Given the description of an element on the screen output the (x, y) to click on. 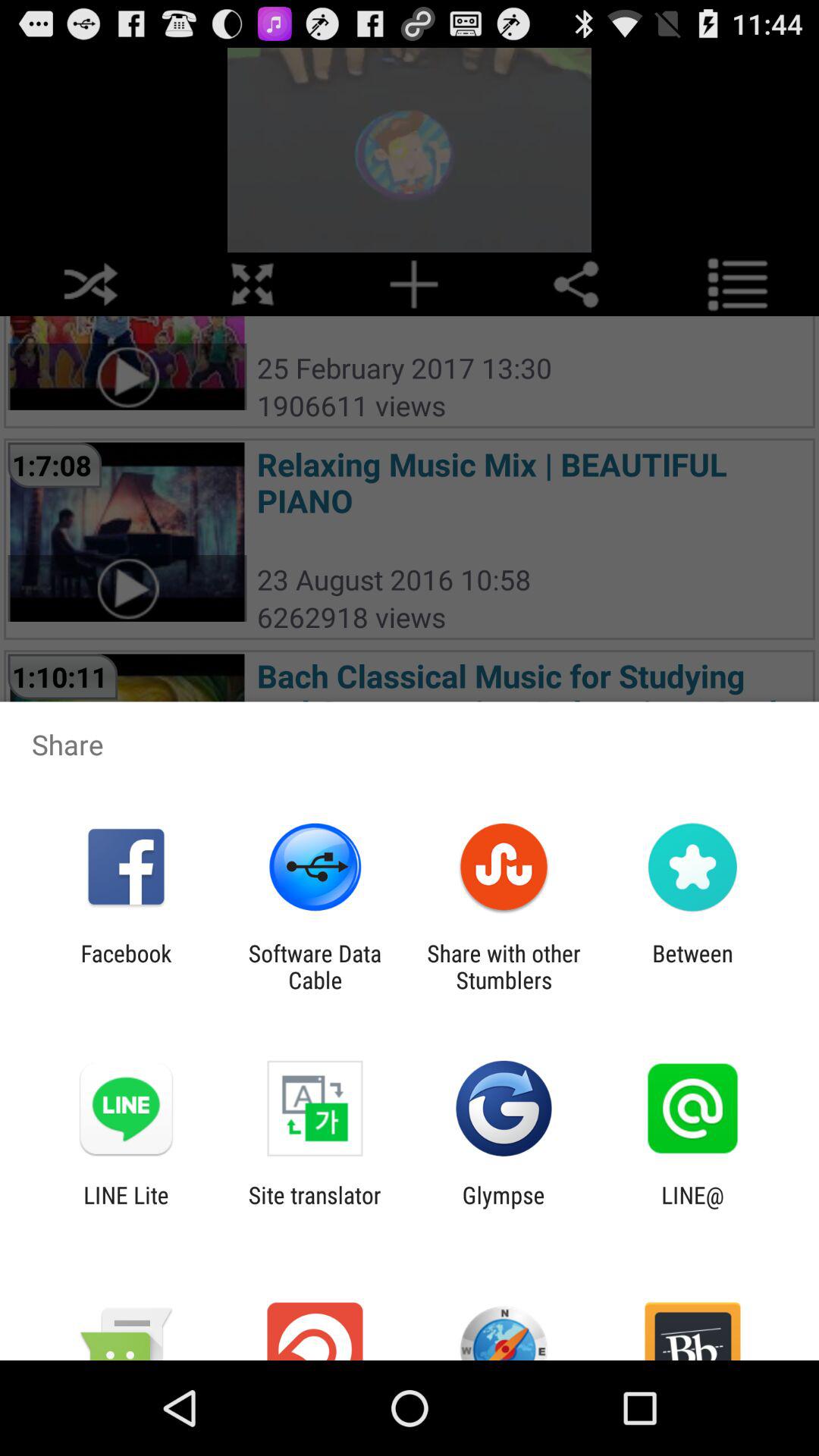
launch the icon to the right of software data cable (503, 966)
